Given the description of an element on the screen output the (x, y) to click on. 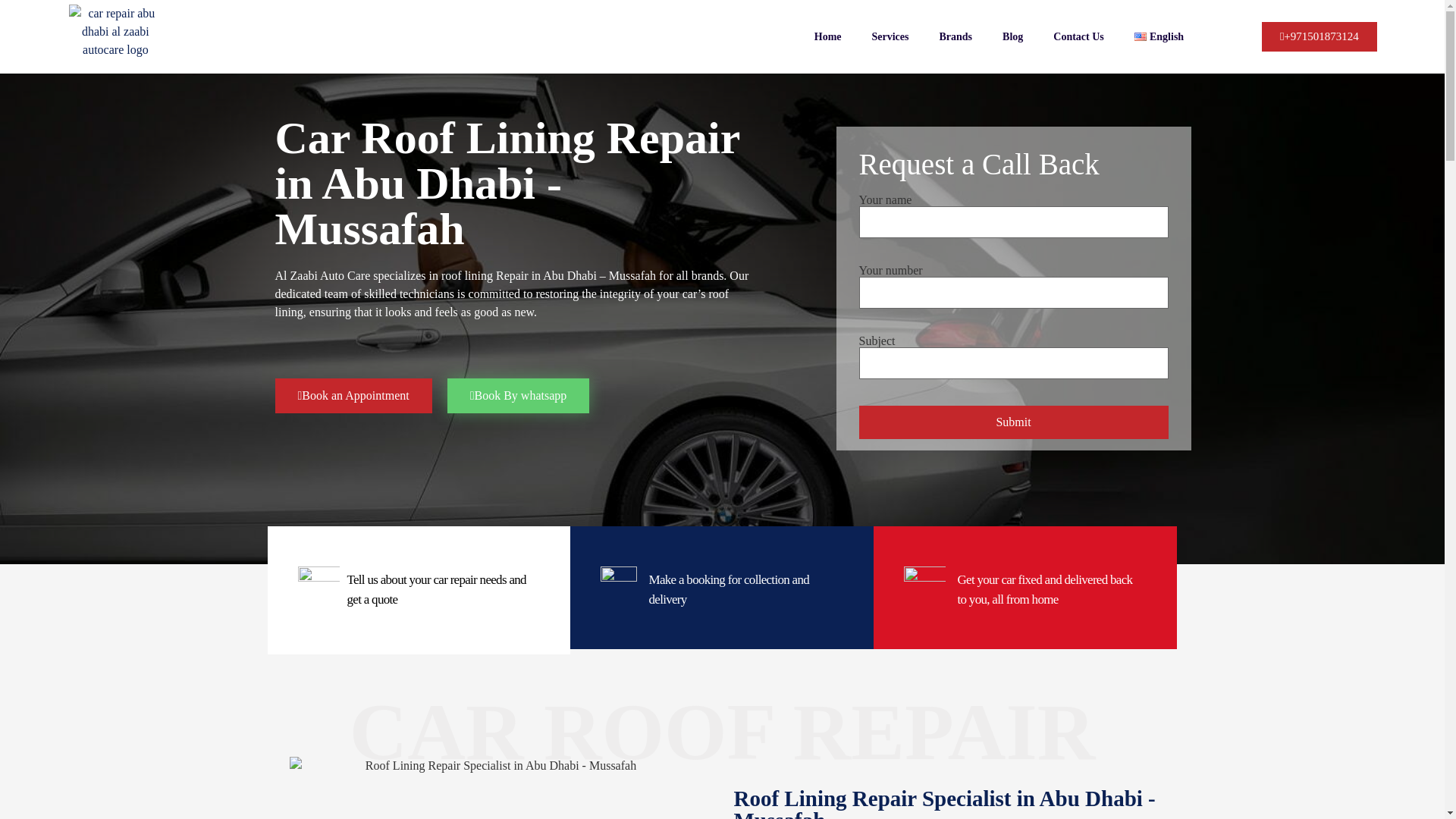
Services (890, 36)
Home (828, 36)
Submit (1013, 421)
Brands (955, 36)
